Given the description of an element on the screen output the (x, y) to click on. 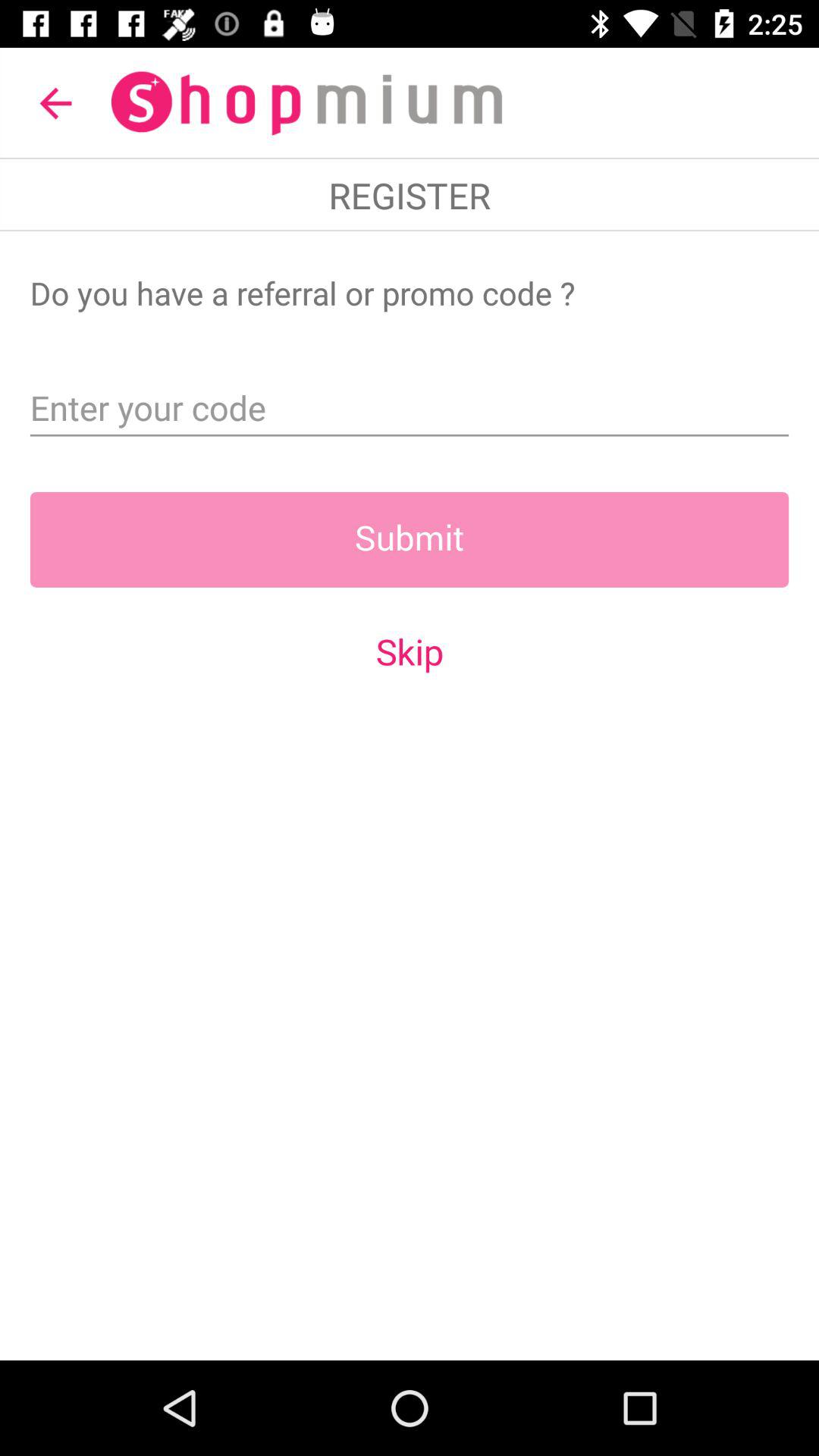
type code (409, 403)
